Given the description of an element on the screen output the (x, y) to click on. 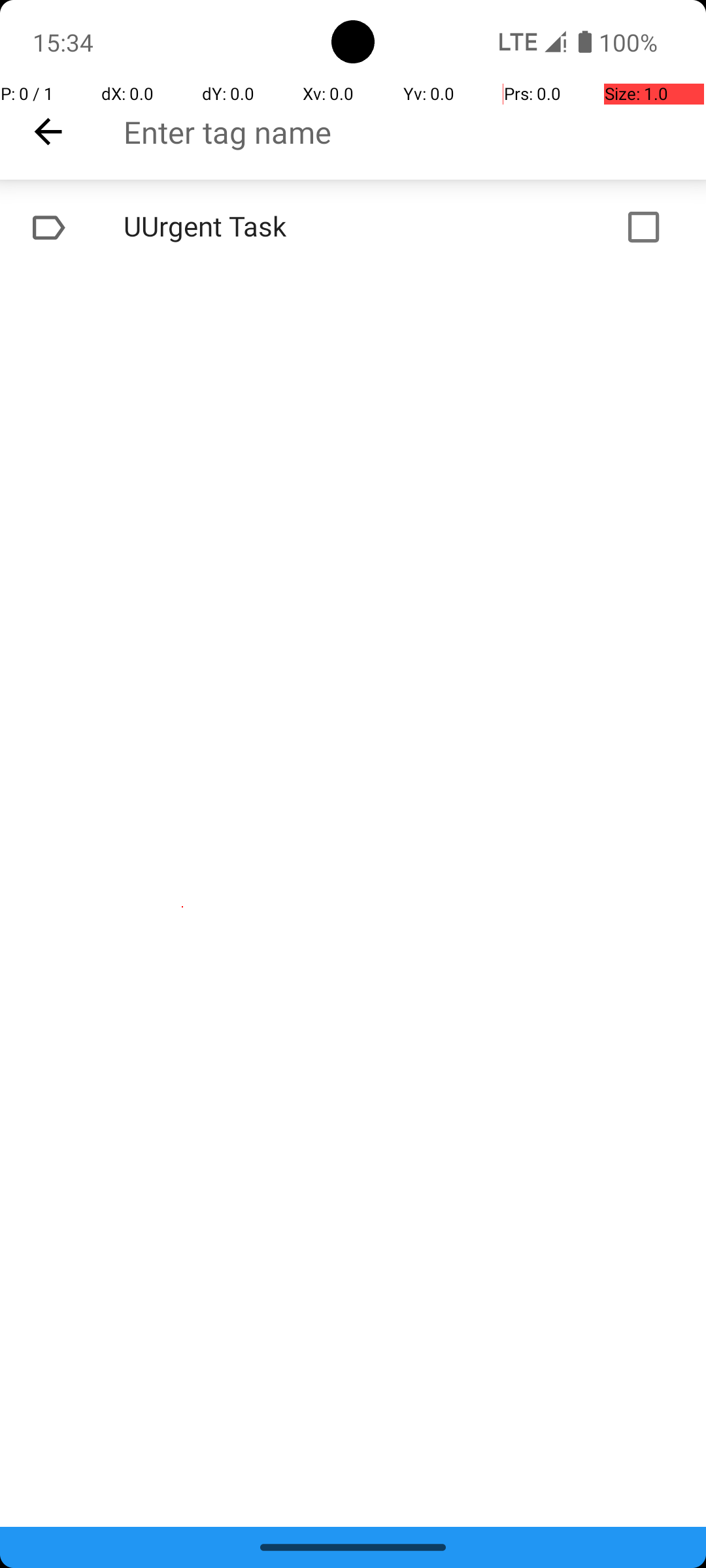
Enter tag name Element type: android.widget.EditText (414, 131)
UUrgent Task Element type: android.widget.TextView (311, 227)
